Given the description of an element on the screen output the (x, y) to click on. 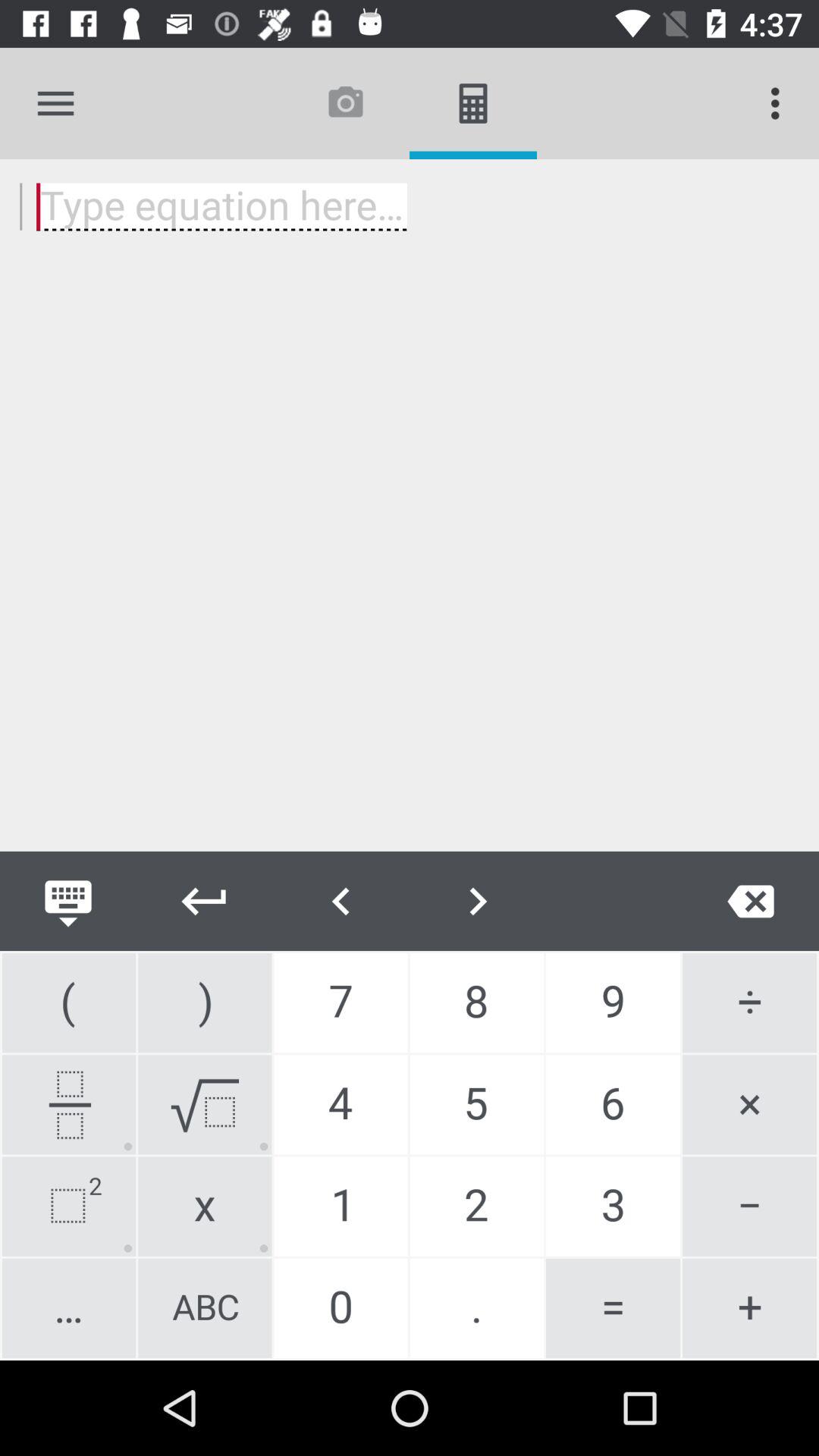
close keyboard (68, 900)
